Given the description of an element on the screen output the (x, y) to click on. 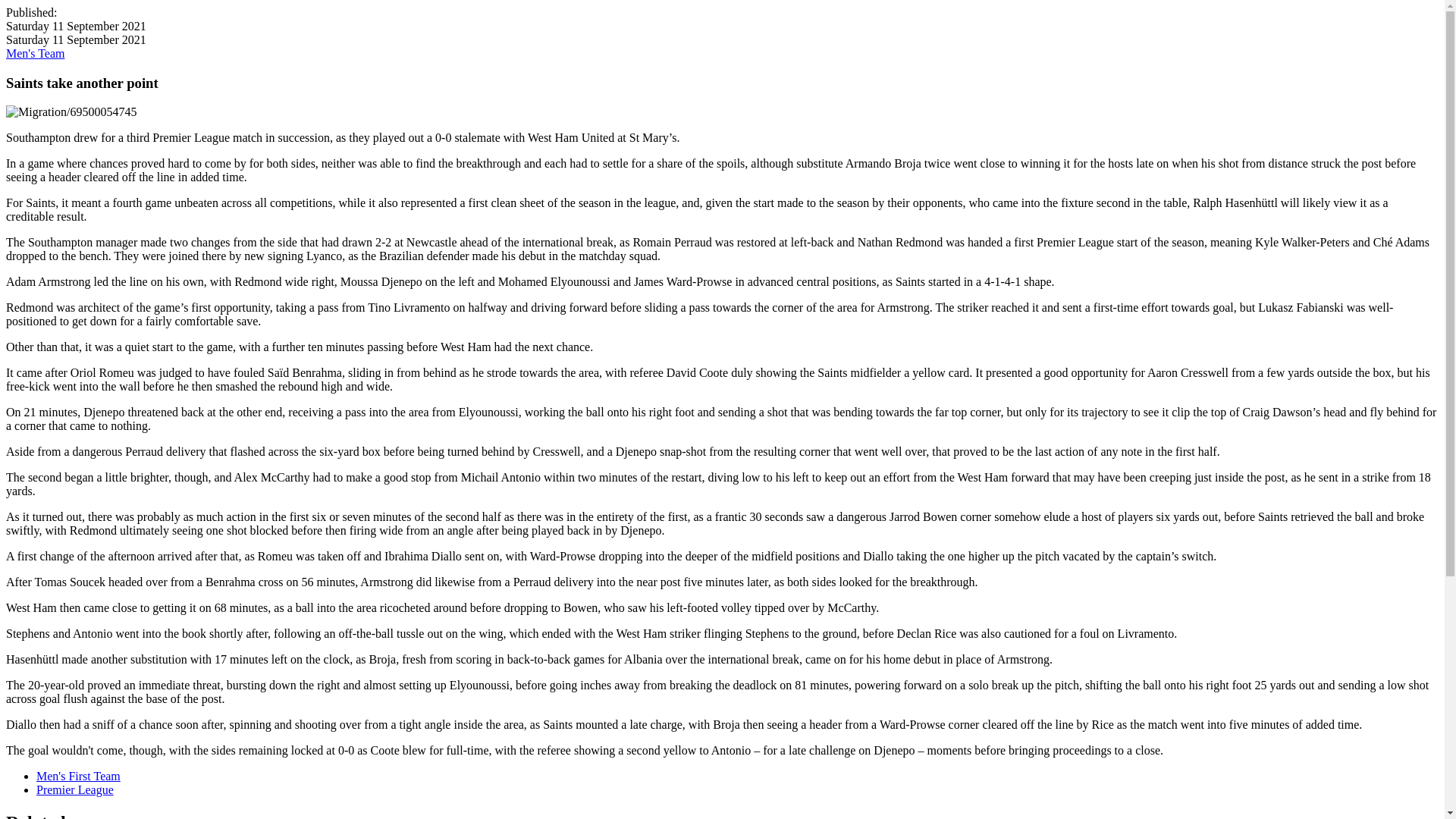
Premier League (74, 789)
Premier League (74, 789)
Men's First Team (78, 775)
Men's First Team (78, 775)
Men's Team (34, 52)
